Given the description of an element on the screen output the (x, y) to click on. 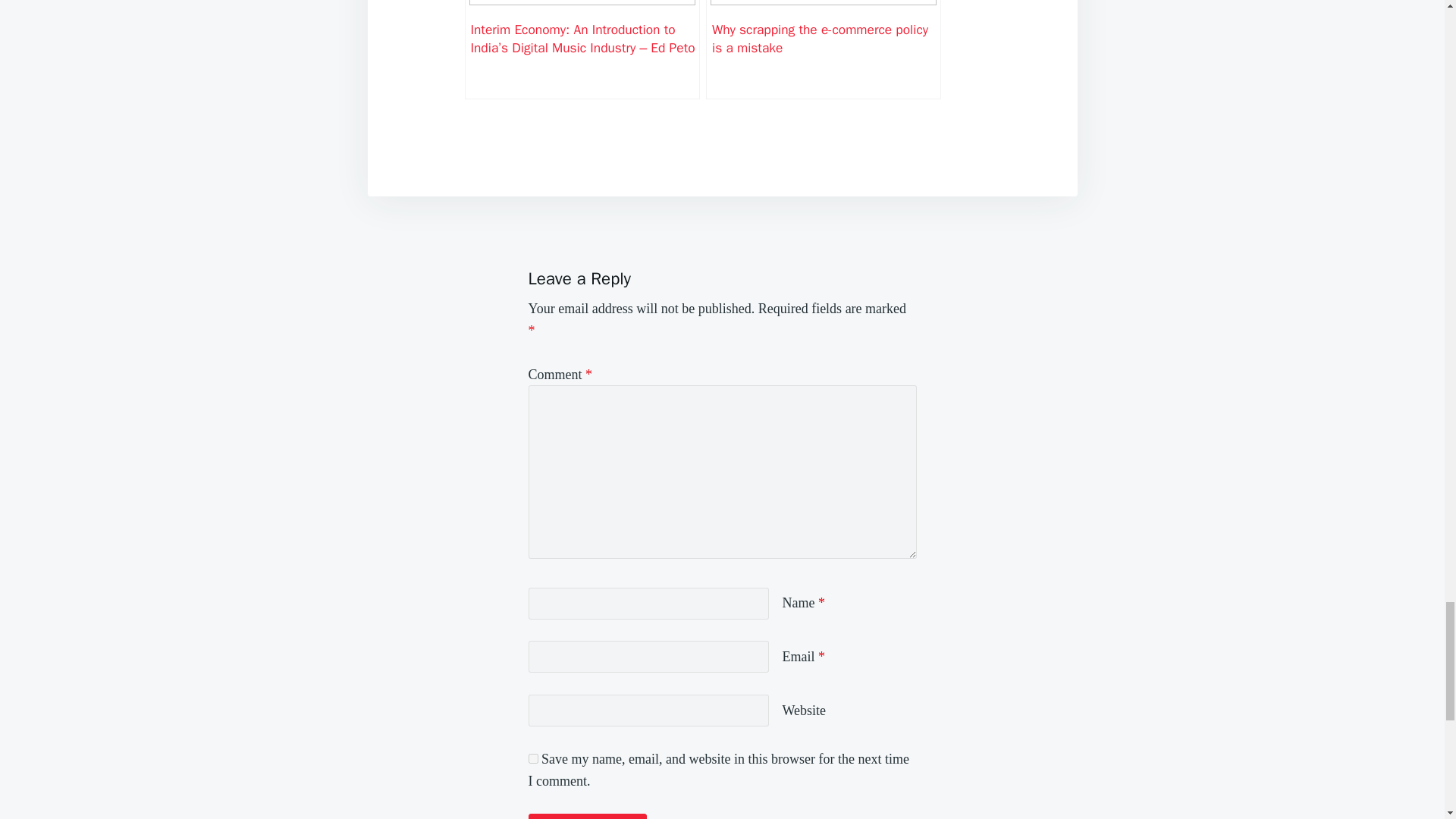
Why scrapping the e-commerce policy is a mistake (823, 49)
Post Comment (586, 816)
yes (532, 758)
